Given the description of an element on the screen output the (x, y) to click on. 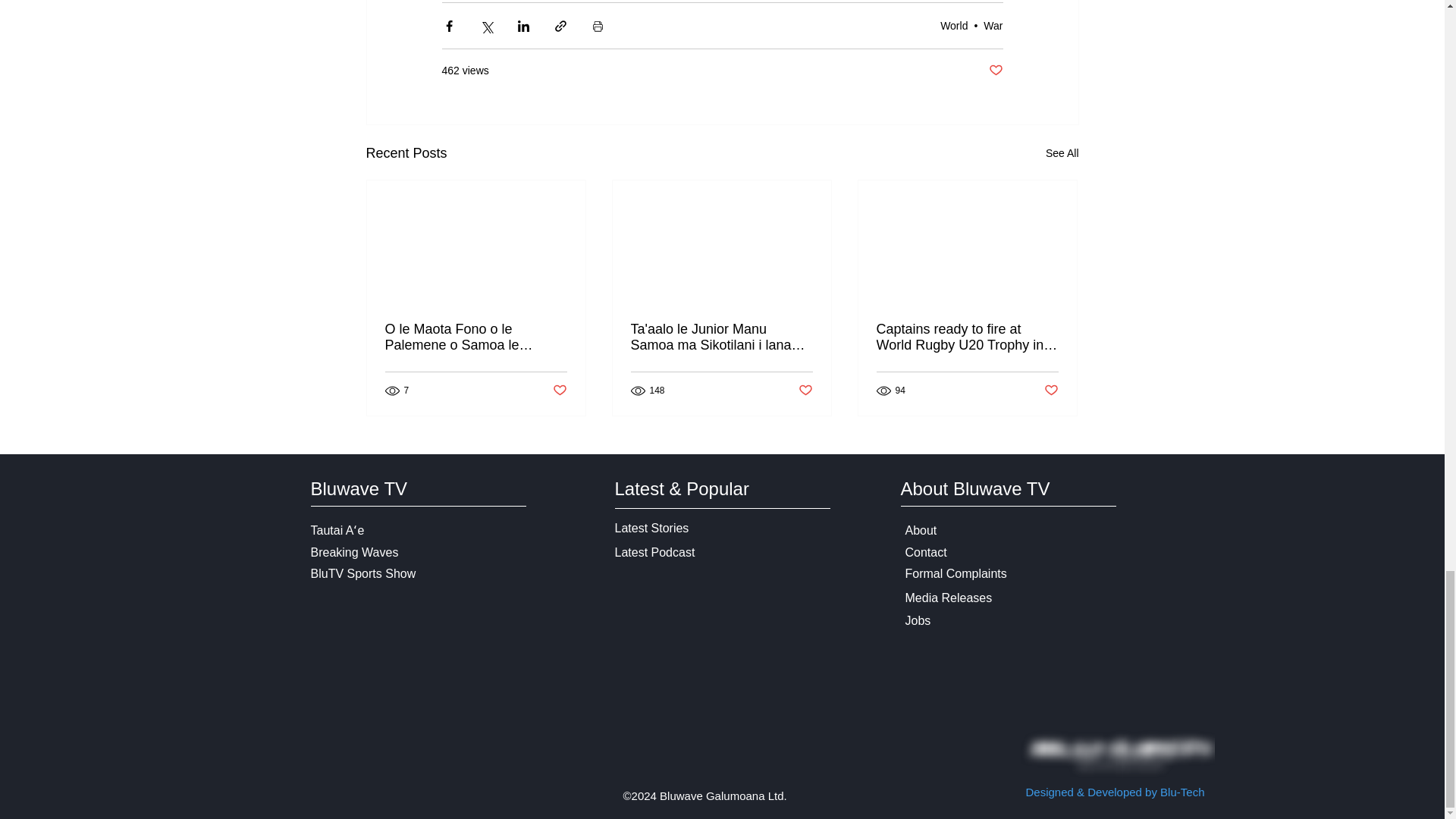
War (993, 25)
Post not marked as liked (804, 390)
Post not marked as liked (995, 70)
Captains ready to fire at World Rugby U20 Trophy in Scotland (967, 336)
Post not marked as liked (1050, 390)
World (954, 25)
Post not marked as liked (558, 390)
See All (1061, 153)
